Given the description of an element on the screen output the (x, y) to click on. 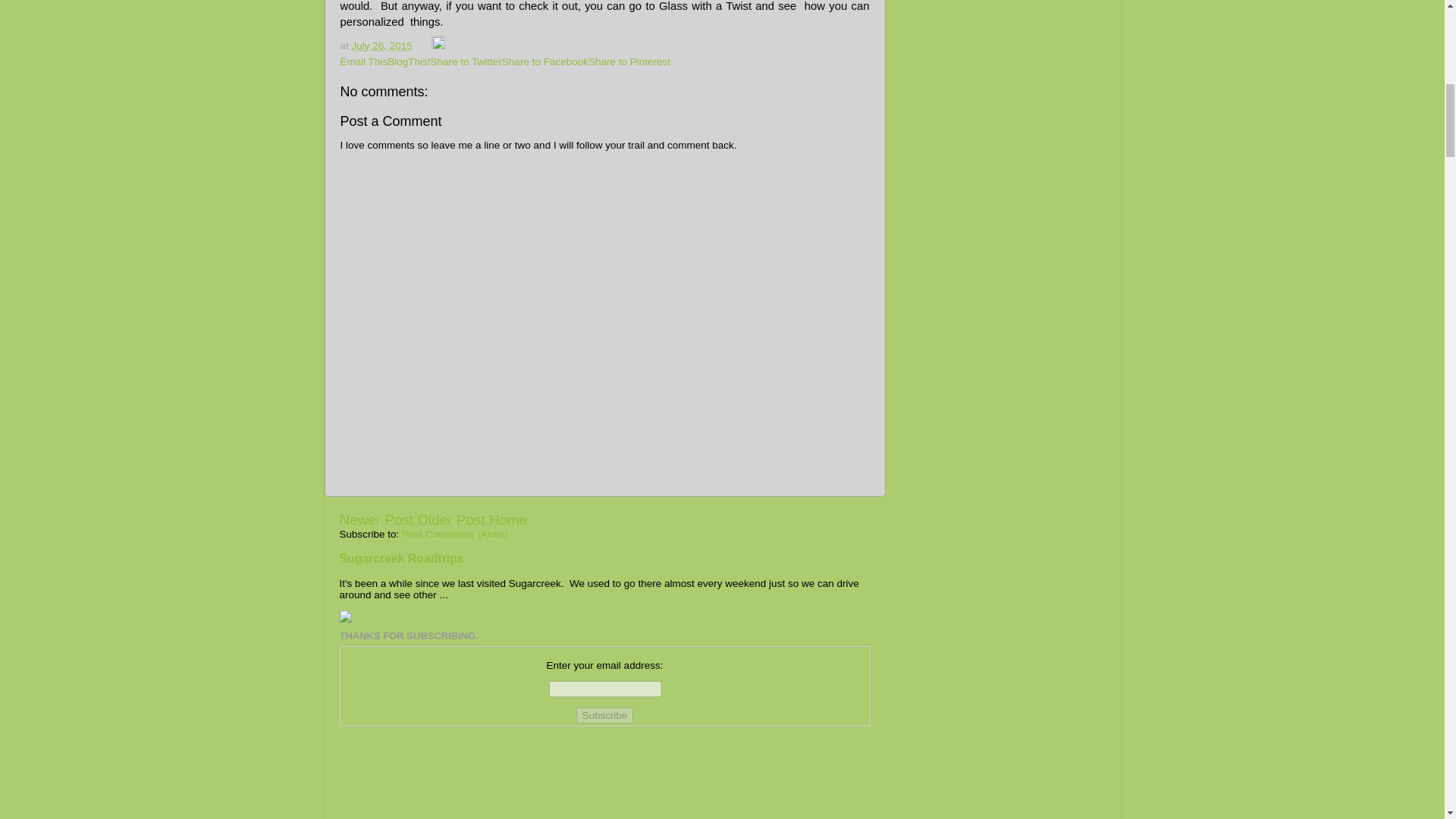
permanent link (382, 45)
July 26, 2015 (382, 45)
Share to Twitter (466, 61)
Subscribe (604, 715)
Subscribe (604, 715)
Email This (363, 61)
Share to Pinterest (628, 61)
Home (508, 519)
Older Post (450, 519)
Share to Twitter (466, 61)
Edit Post (437, 45)
Share to Facebook (545, 61)
Older Post (450, 519)
Newer Post (376, 519)
Newer Post (376, 519)
